Given the description of an element on the screen output the (x, y) to click on. 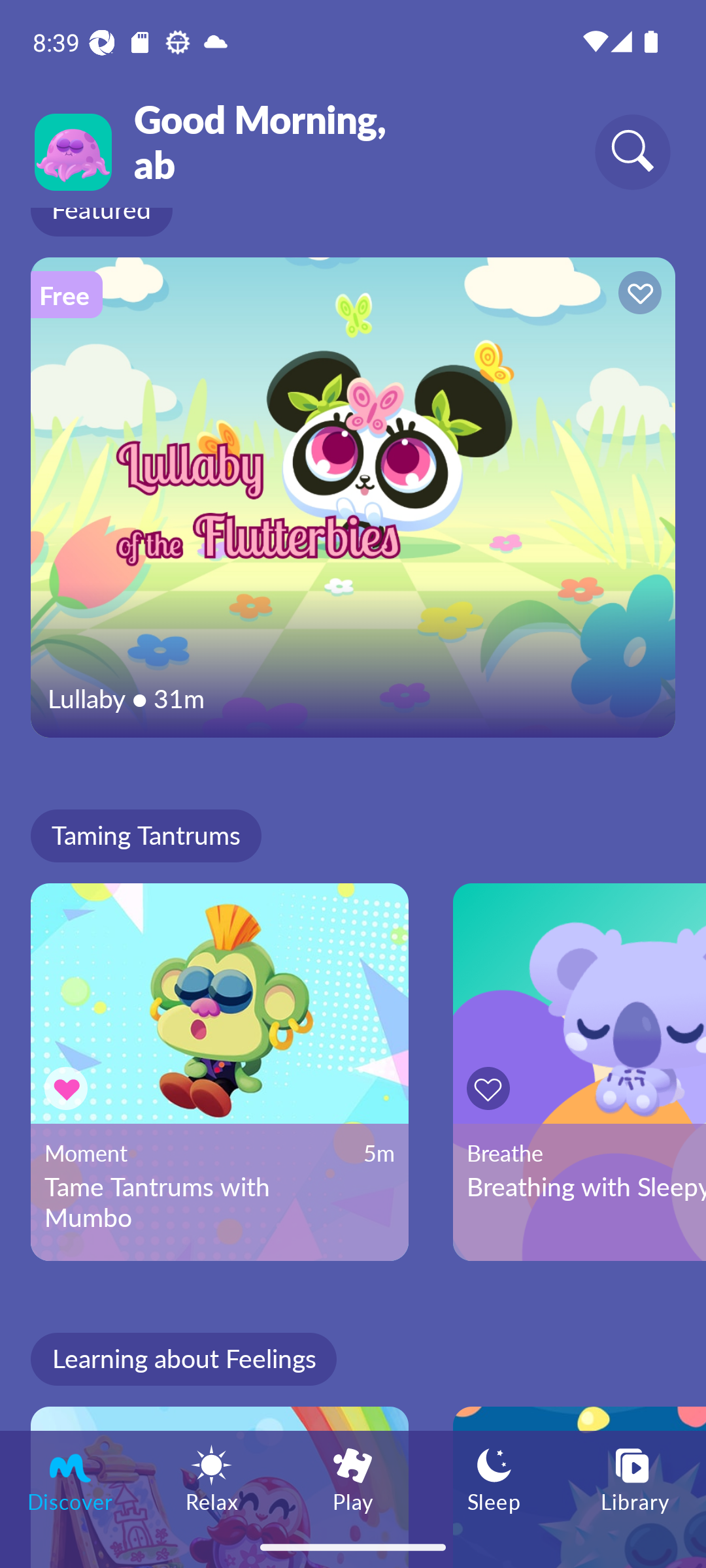
Search (632, 151)
Featured Content Free Button Lullaby ● 31m (352, 496)
Button (636, 295)
Button (69, 1087)
Button (491, 1087)
Relax (211, 1478)
Play (352, 1478)
Sleep (493, 1478)
Library (635, 1478)
